Given the description of an element on the screen output the (x, y) to click on. 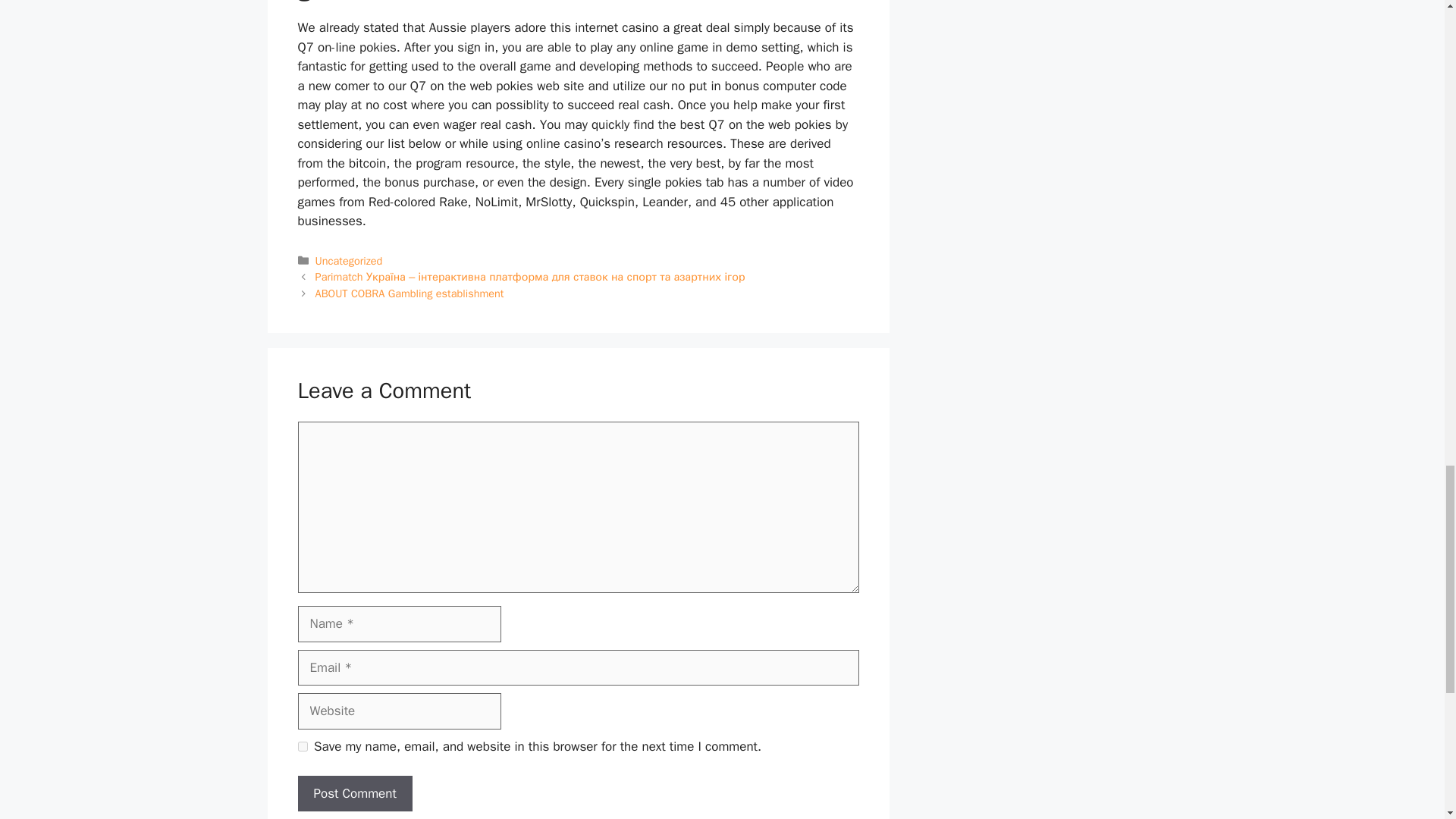
Next (409, 293)
yes (302, 746)
Post Comment (354, 793)
Previous (530, 276)
